Given the description of an element on the screen output the (x, y) to click on. 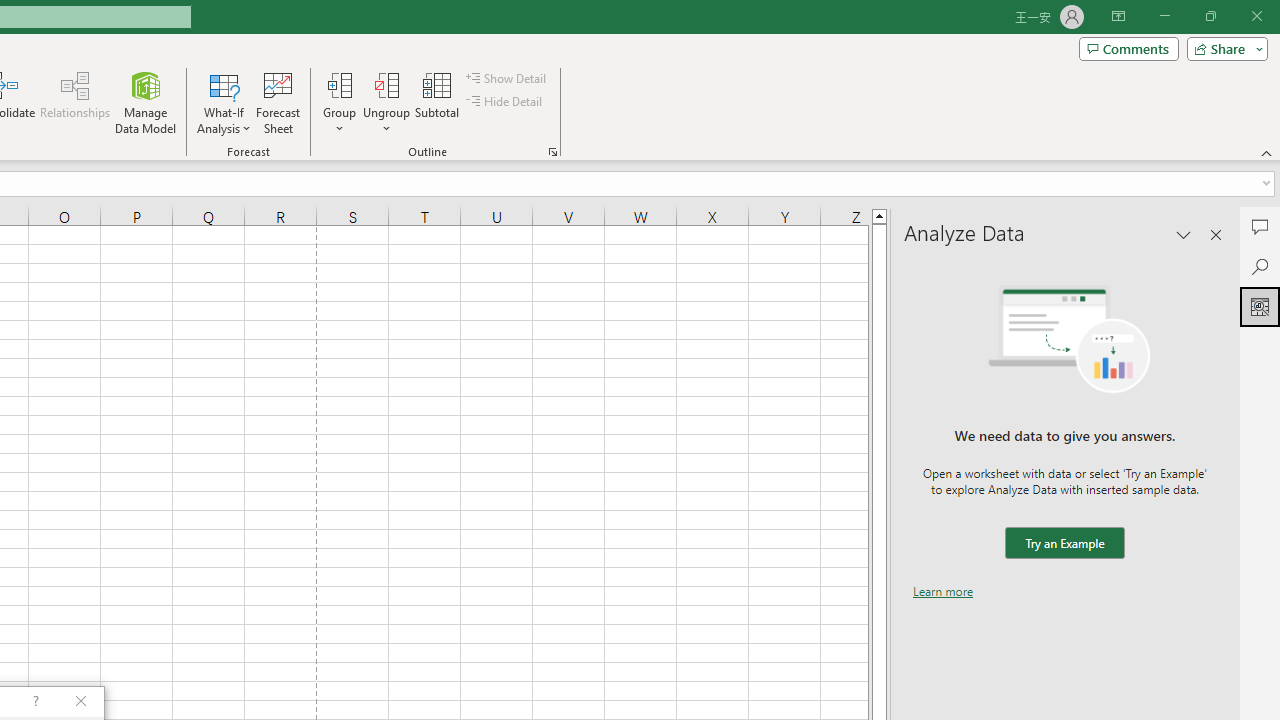
Manage Data Model (145, 102)
Group and Outline Settings (552, 151)
Ungroup... (386, 84)
Group... (339, 102)
Restore Down (1210, 16)
Subtotal (437, 102)
Forecast Sheet (278, 102)
We need data to give you answers. Try an Example (1064, 543)
Search (1260, 266)
